Given the description of an element on the screen output the (x, y) to click on. 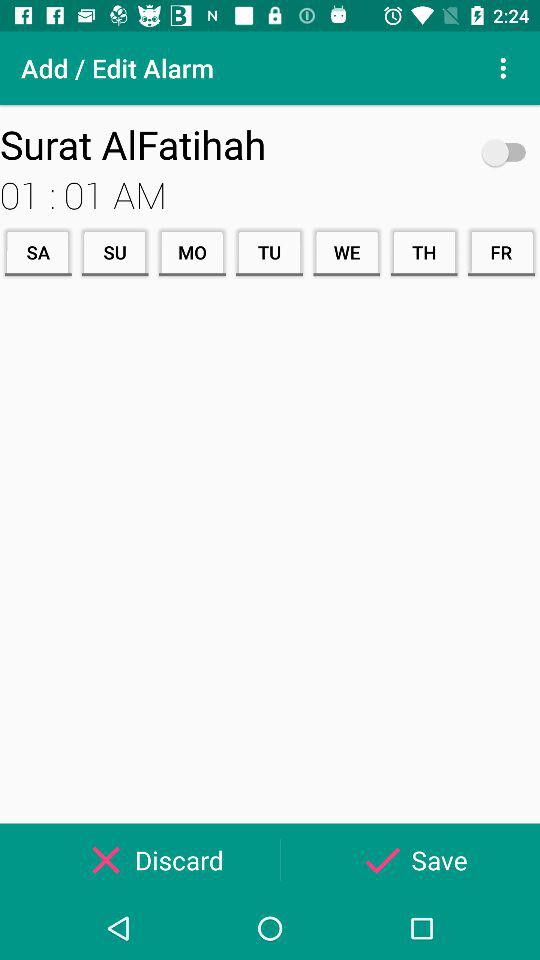
press the item next to mo icon (114, 251)
